Given the description of an element on the screen output the (x, y) to click on. 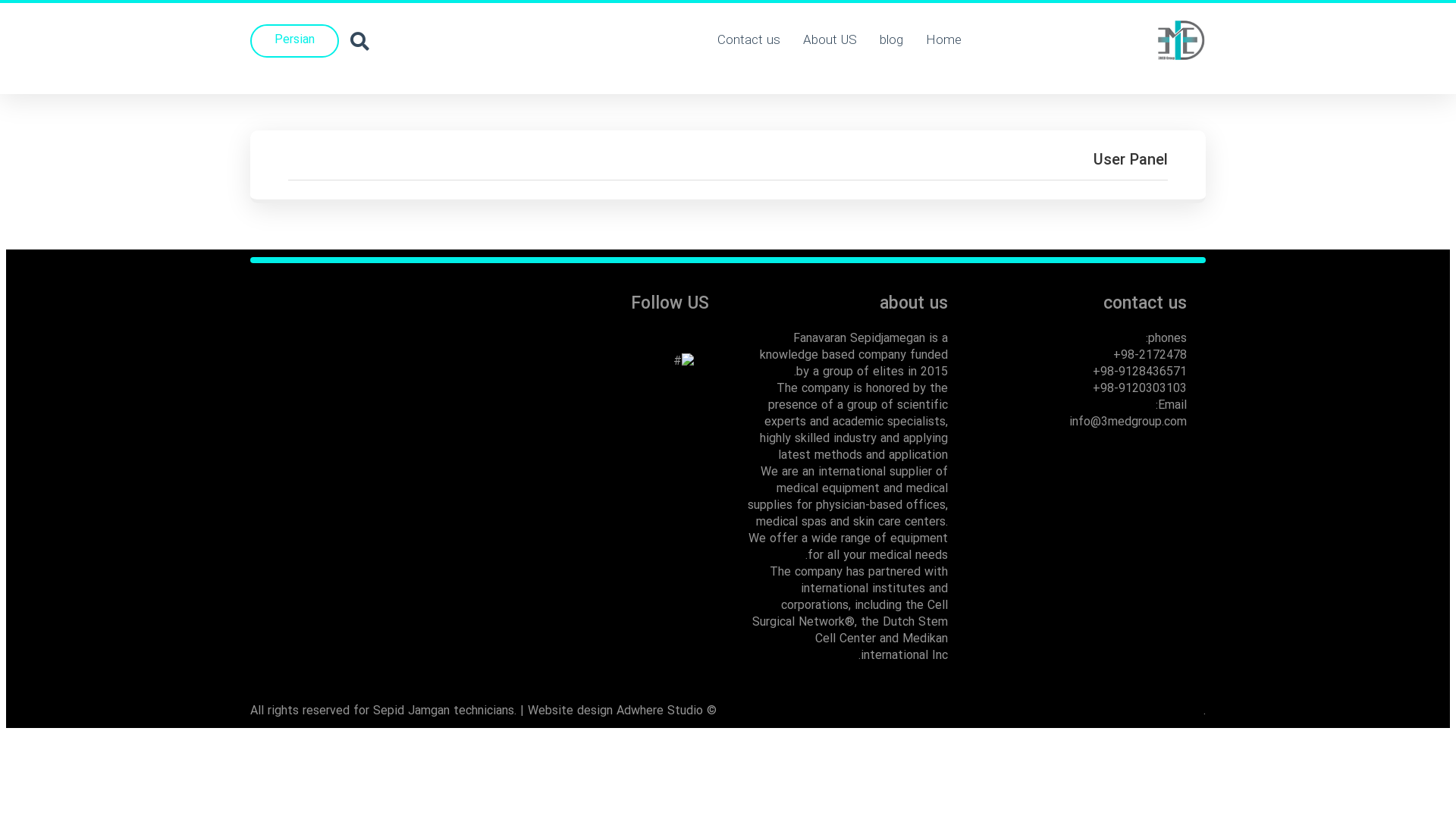
blog Element type: text (890, 40)
Home Element type: text (943, 40)
About US Element type: text (829, 40)
Contact us Element type: text (747, 40)
User Panel Element type: text (727, 160)
Persian Element type: text (294, 40)
